Given the description of an element on the screen output the (x, y) to click on. 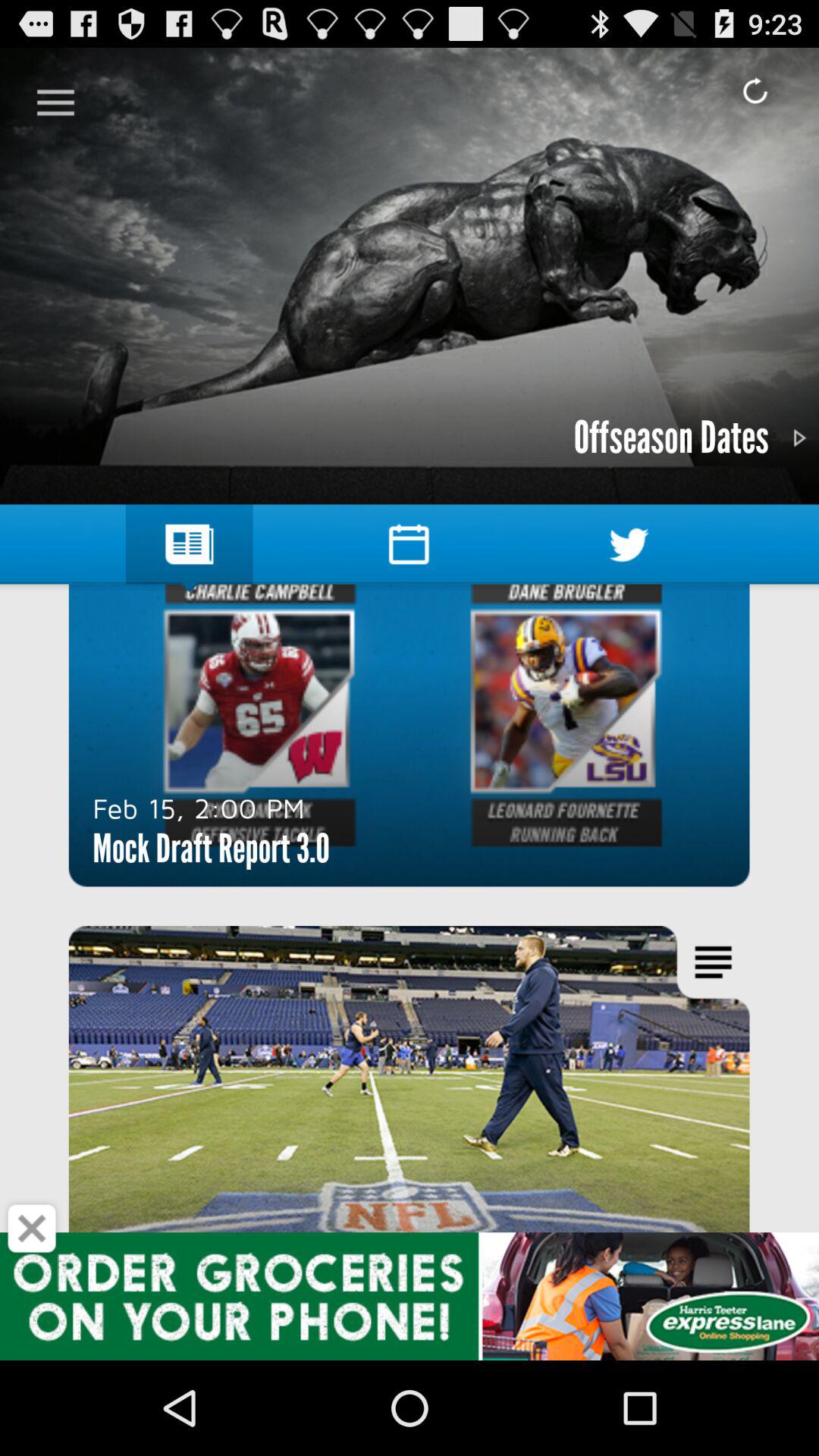
select the first thumbnail (409, 734)
